Given the description of an element on the screen output the (x, y) to click on. 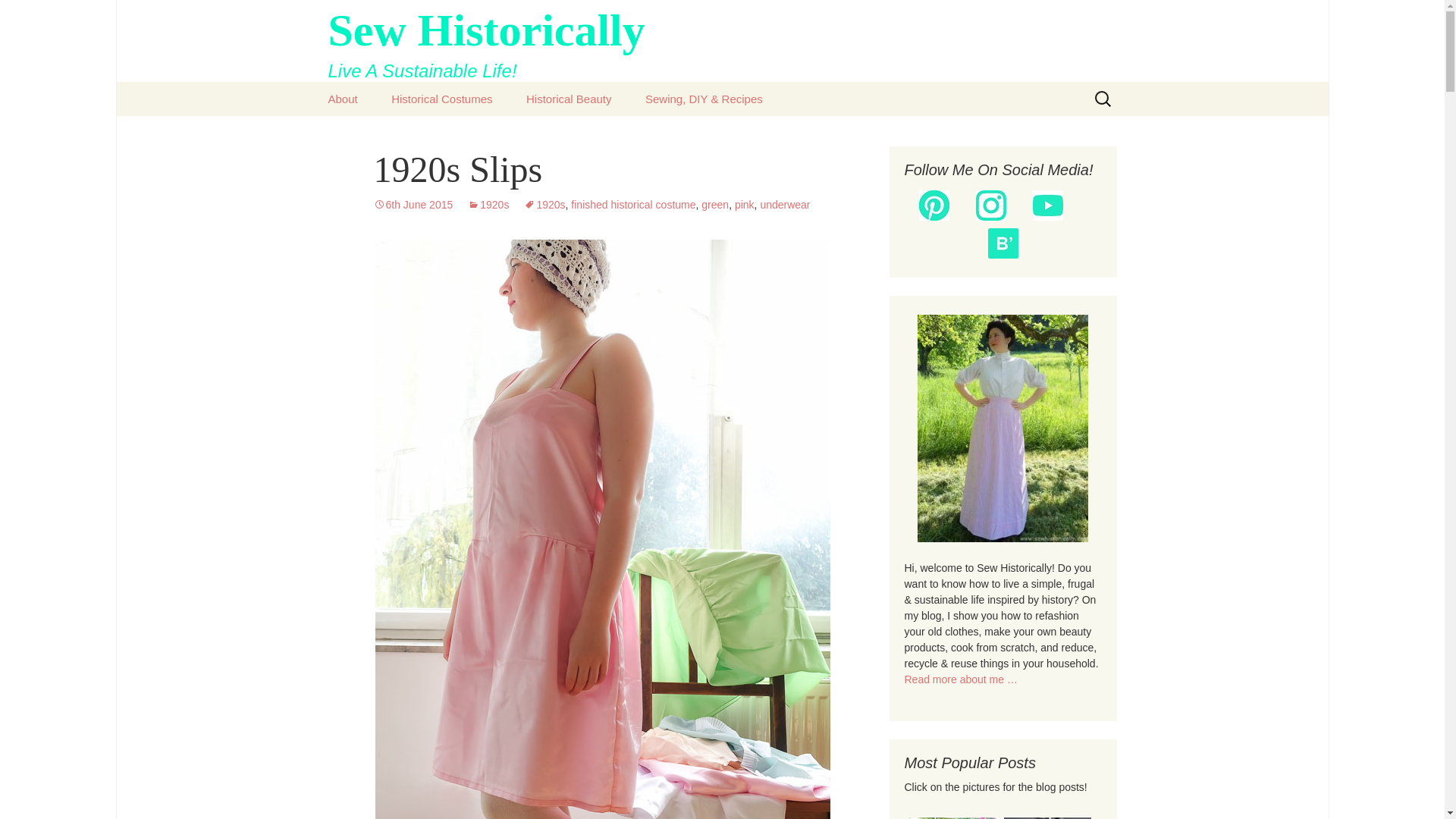
1920s (722, 40)
Search (487, 204)
Historical Beauty (18, 15)
1920s (569, 98)
green (544, 204)
Sew Historically (715, 204)
6th June 2015 (722, 40)
About (412, 204)
Themes Across Eras (342, 98)
